Given the description of an element on the screen output the (x, y) to click on. 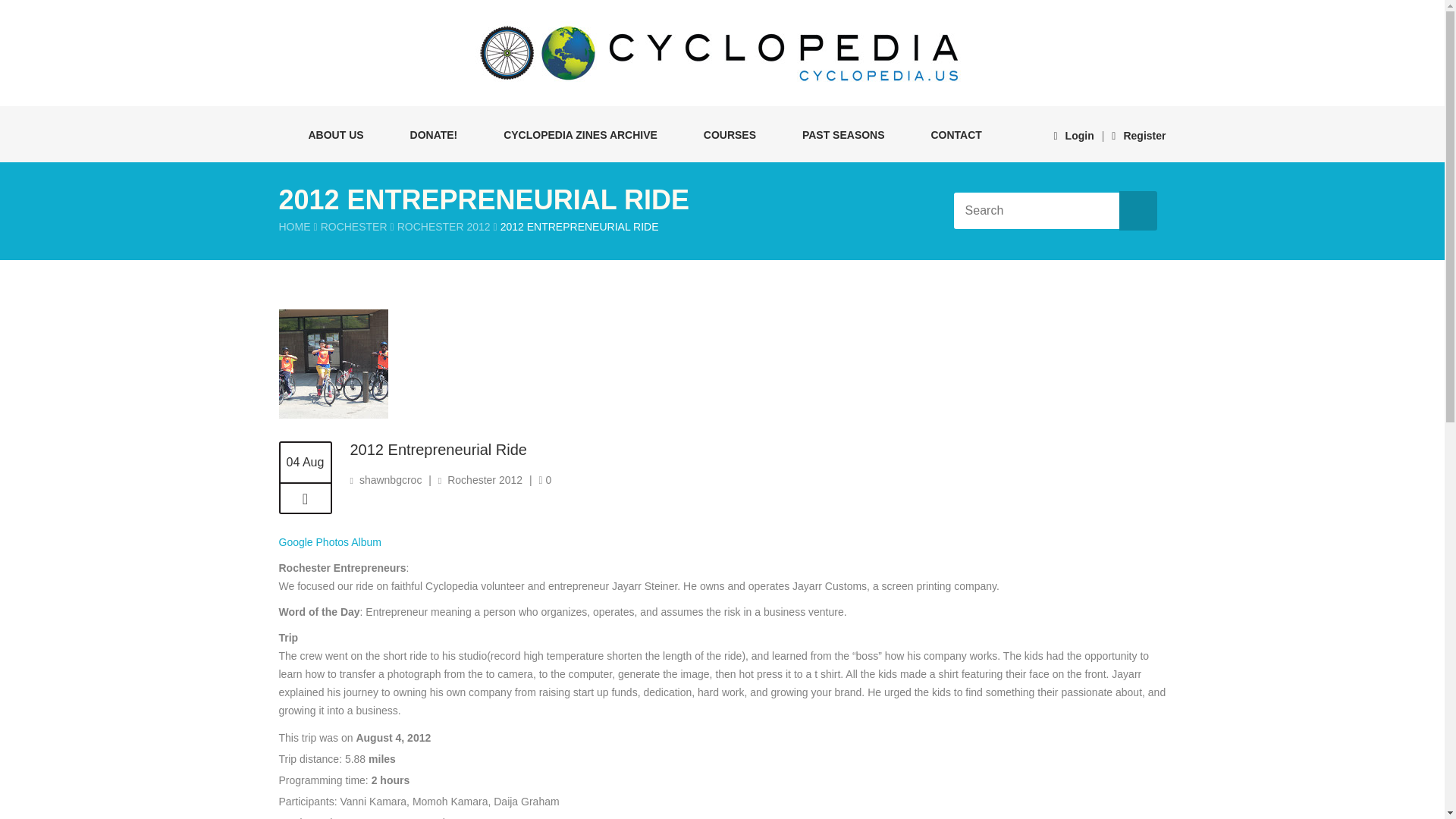
CYCLOPEDIA ZINES ARCHIVE (572, 133)
Login (1072, 135)
View all posts by  (390, 480)
2012 Entrepreneurial Ride (438, 449)
2012 Entrepreneurial Ride (438, 449)
CONTACT (947, 133)
COURSES (722, 133)
shawnbgcroc (390, 480)
Cyclopedia Bicycling Program (722, 52)
HOME (295, 226)
Register (1139, 135)
2012 Entrepreneurial Ride (305, 499)
ROCHESTER (353, 226)
ROCHESTER 2012 (443, 226)
Register (1139, 135)
